Given the description of an element on the screen output the (x, y) to click on. 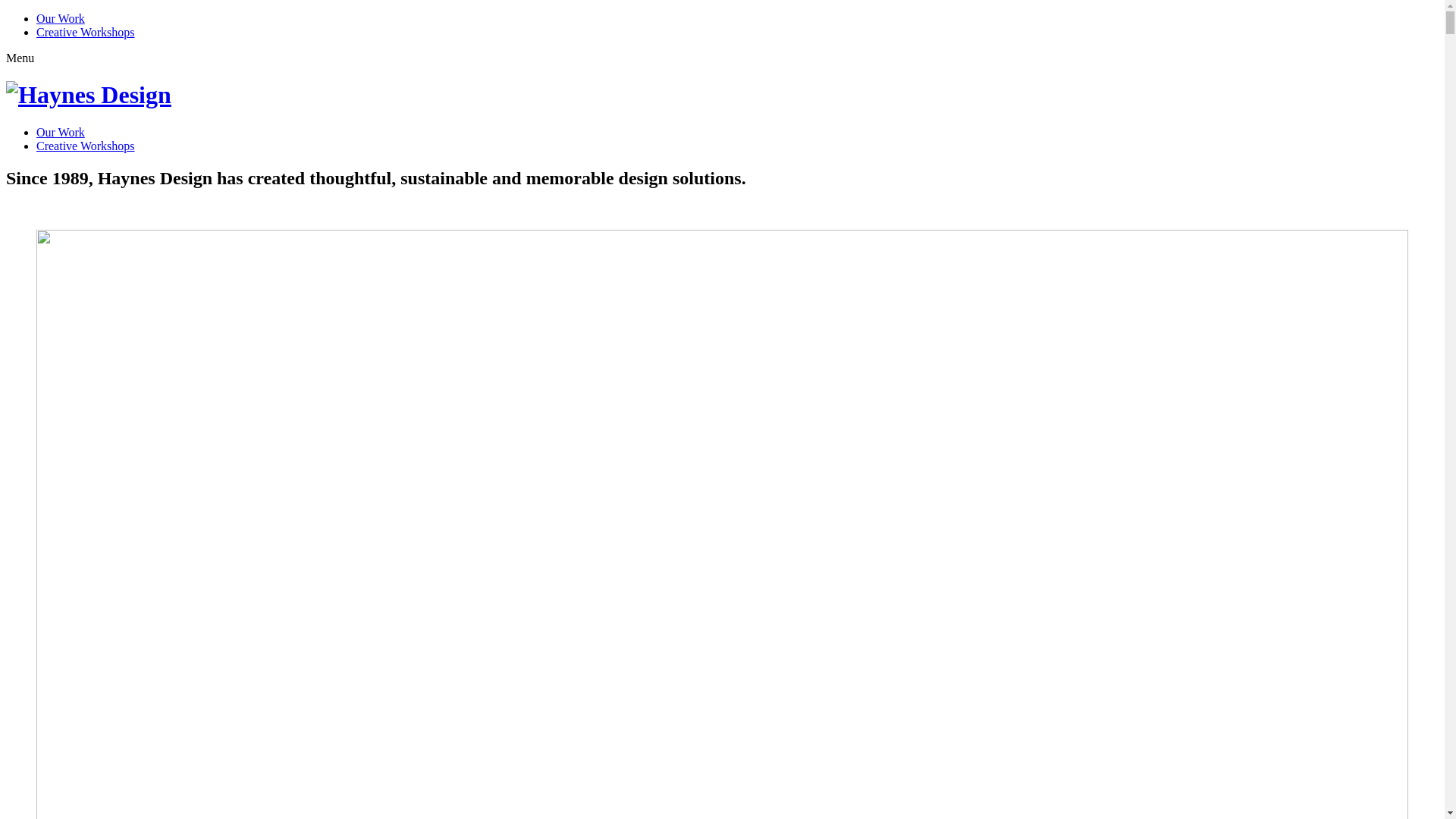
Our Work Element type: text (60, 131)
Creative Workshops Element type: text (85, 31)
Creative Workshops Element type: text (85, 145)
Our Work Element type: text (60, 18)
Menu Element type: text (20, 57)
